Given the description of an element on the screen output the (x, y) to click on. 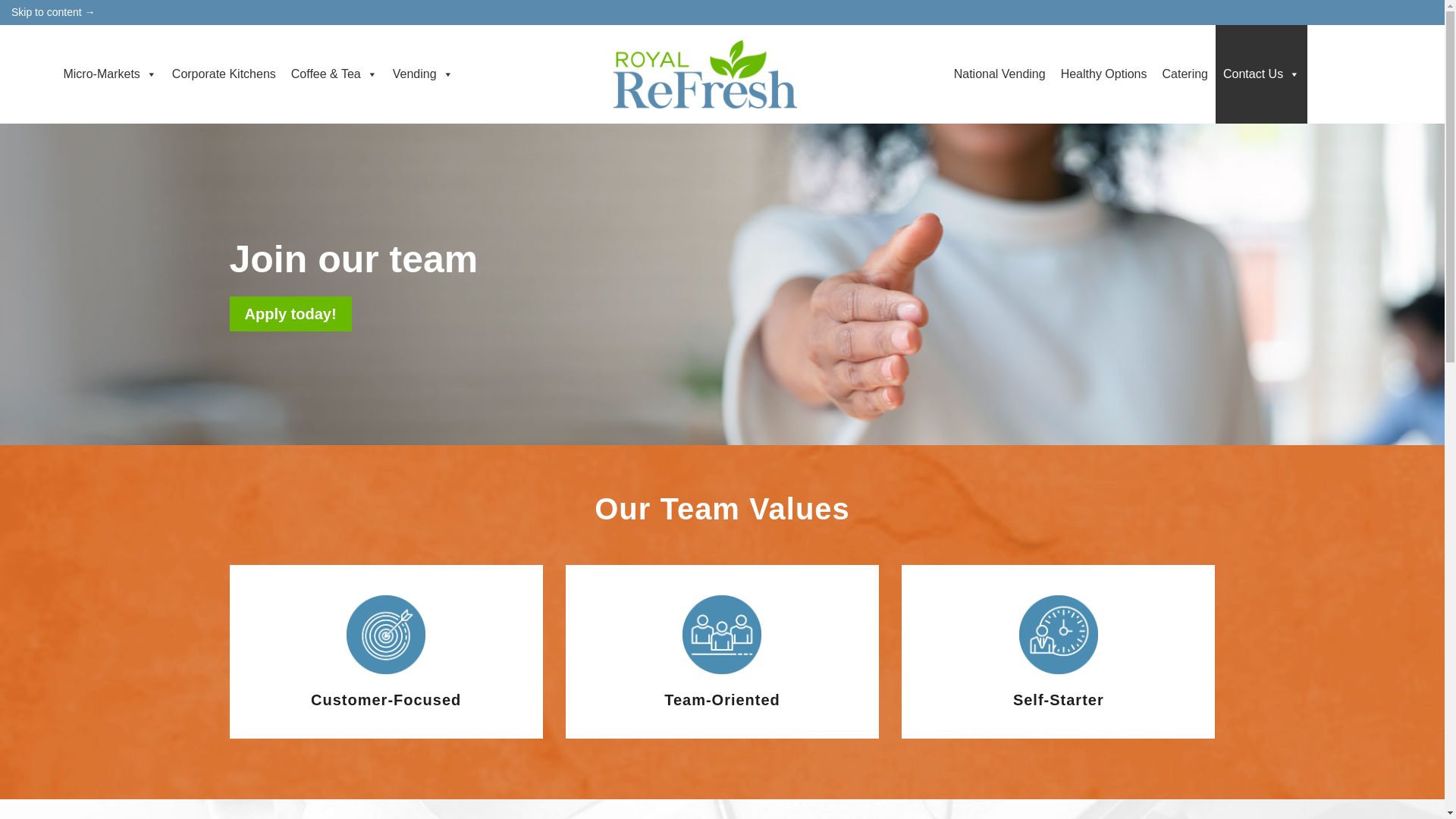
National Vending (999, 74)
Corporate Kitchens (223, 74)
Healthy Options (1103, 74)
Vending (423, 74)
Catering (1184, 74)
Contact Us (1261, 74)
Micro-Markets (109, 74)
